Given the description of an element on the screen output the (x, y) to click on. 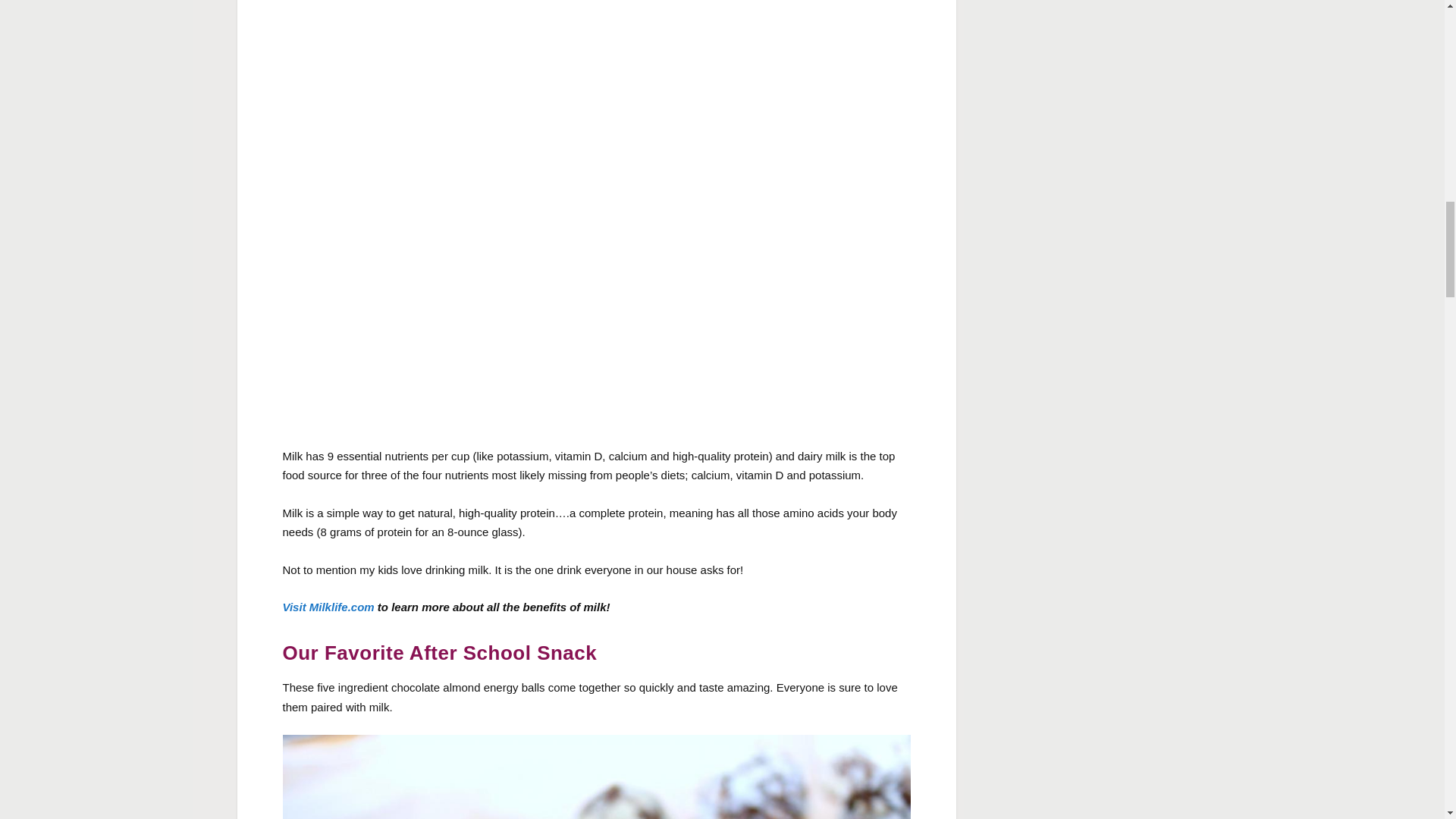
Visit Milklife.com (328, 606)
